Given the description of an element on the screen output the (x, y) to click on. 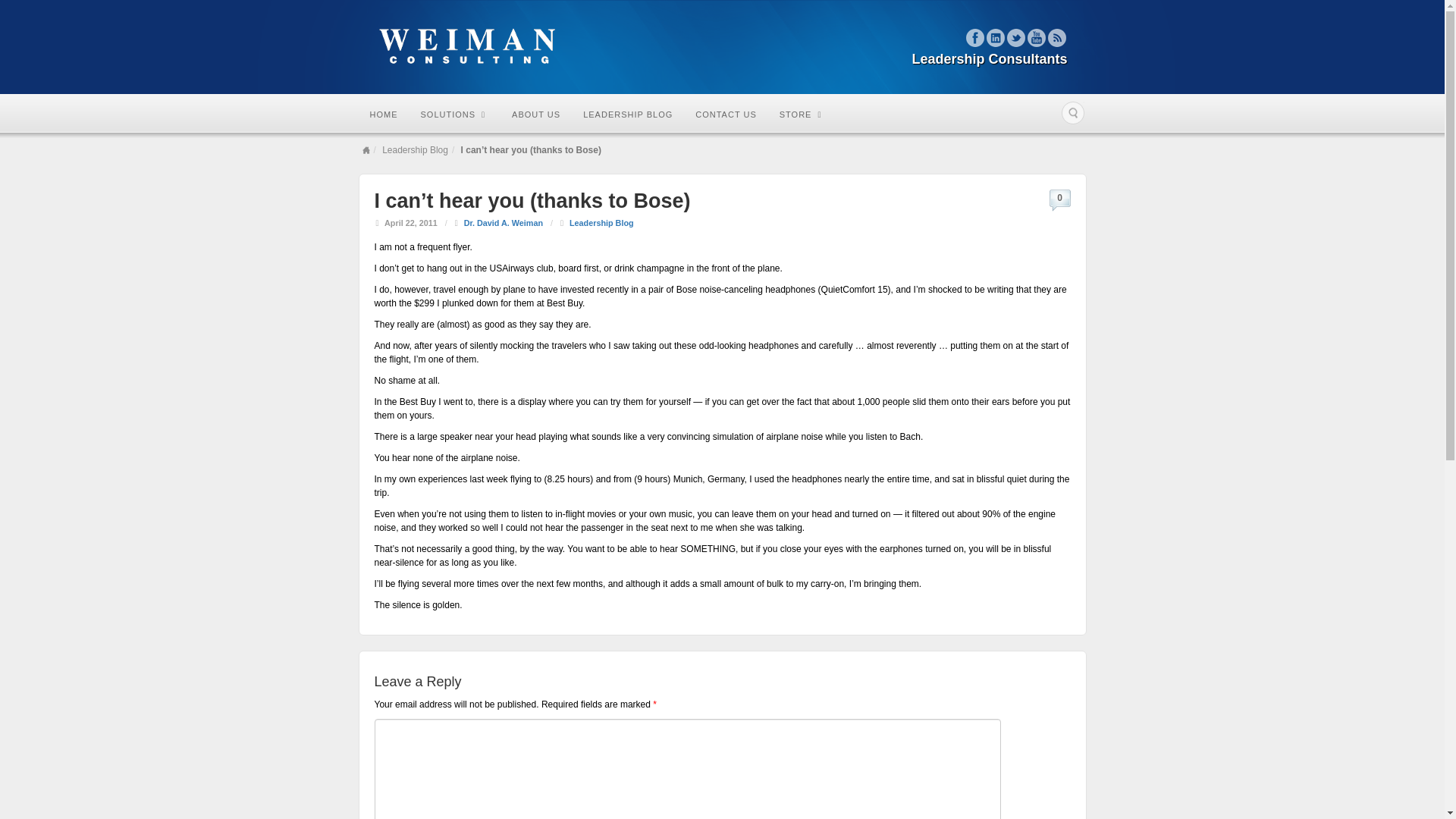
HOME (383, 113)
YouTube (1035, 37)
Leadership Blog (414, 149)
Linkedin (994, 37)
Facebook (975, 37)
Leadership Blog (601, 222)
View all posts by Dr. David A. Weiman (503, 222)
LEADERSHIP BLOG (628, 113)
YouTube (1035, 37)
Linkedin (994, 37)
Weiman Consulting (721, 46)
Twitter (1016, 37)
Leadership Blog (414, 149)
Twitter (1016, 37)
Search the site... (1072, 112)
